Given the description of an element on the screen output the (x, y) to click on. 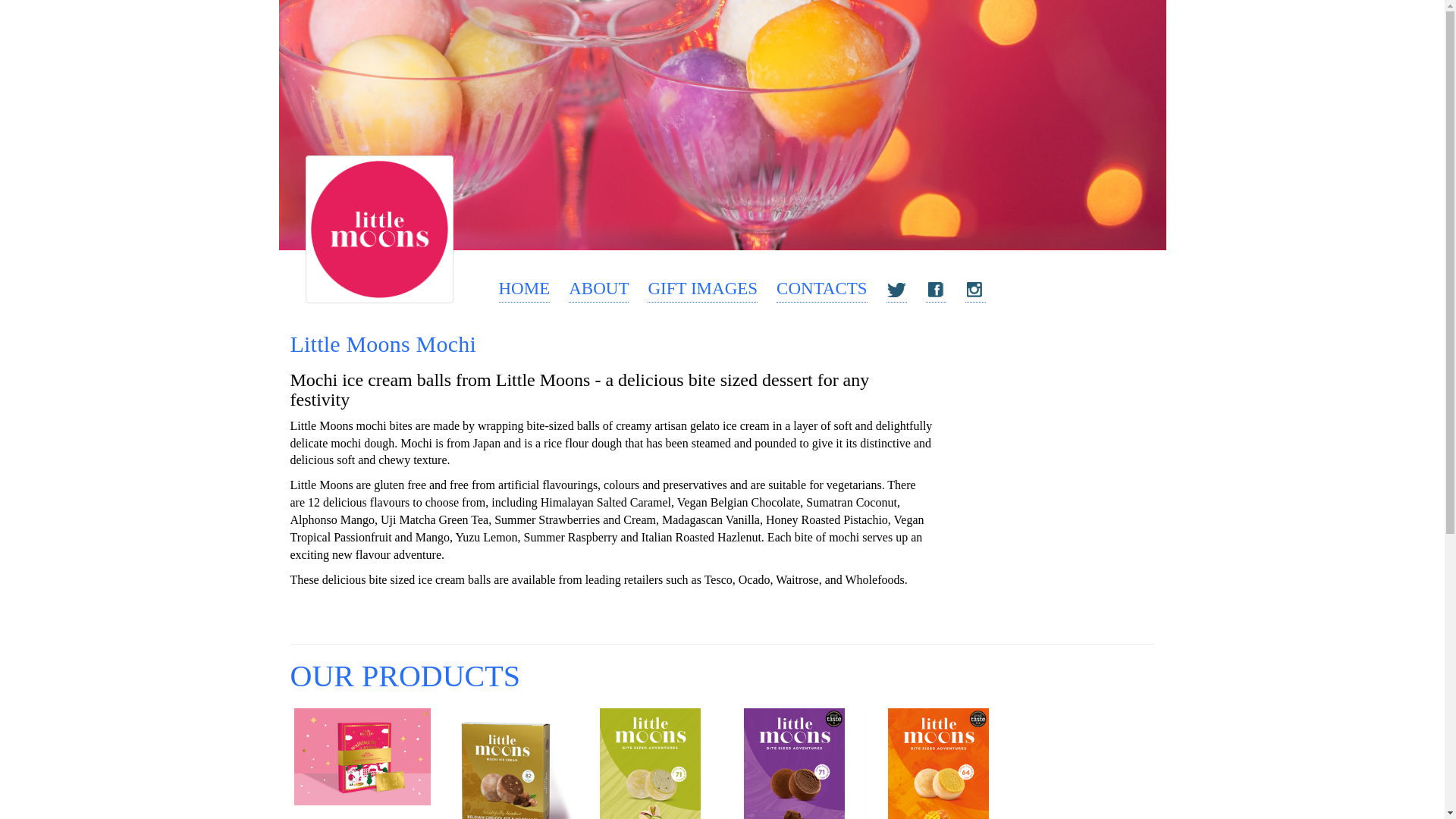
CONTACTS (821, 289)
ABOUT (598, 289)
GIFT IMAGES (702, 289)
HOME (524, 289)
